Given the description of an element on the screen output the (x, y) to click on. 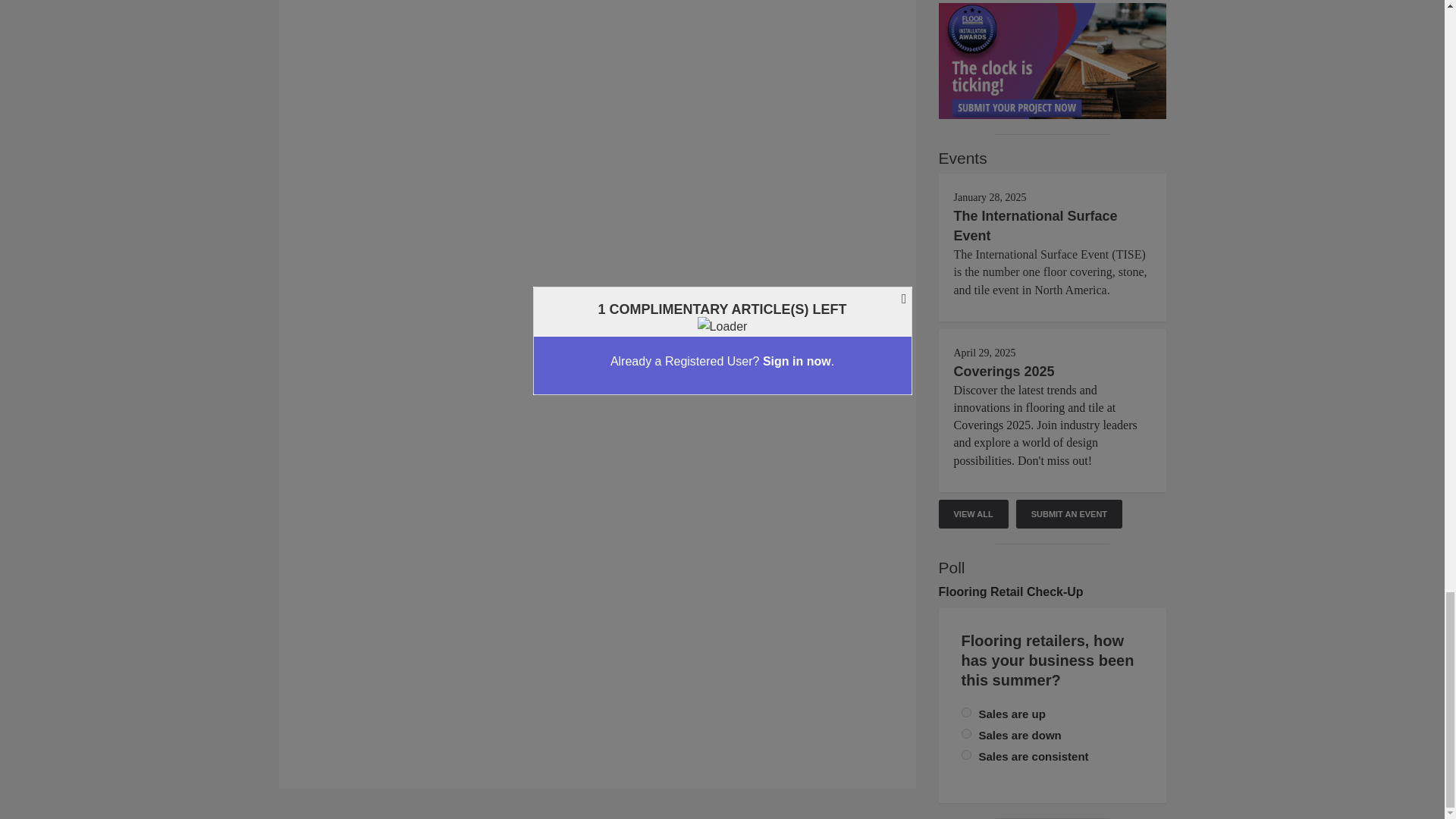
Coverings 2025 (1003, 371)
The International Surface Event (1035, 225)
342 (965, 733)
344 (965, 712)
343 (965, 755)
